Given the description of an element on the screen output the (x, y) to click on. 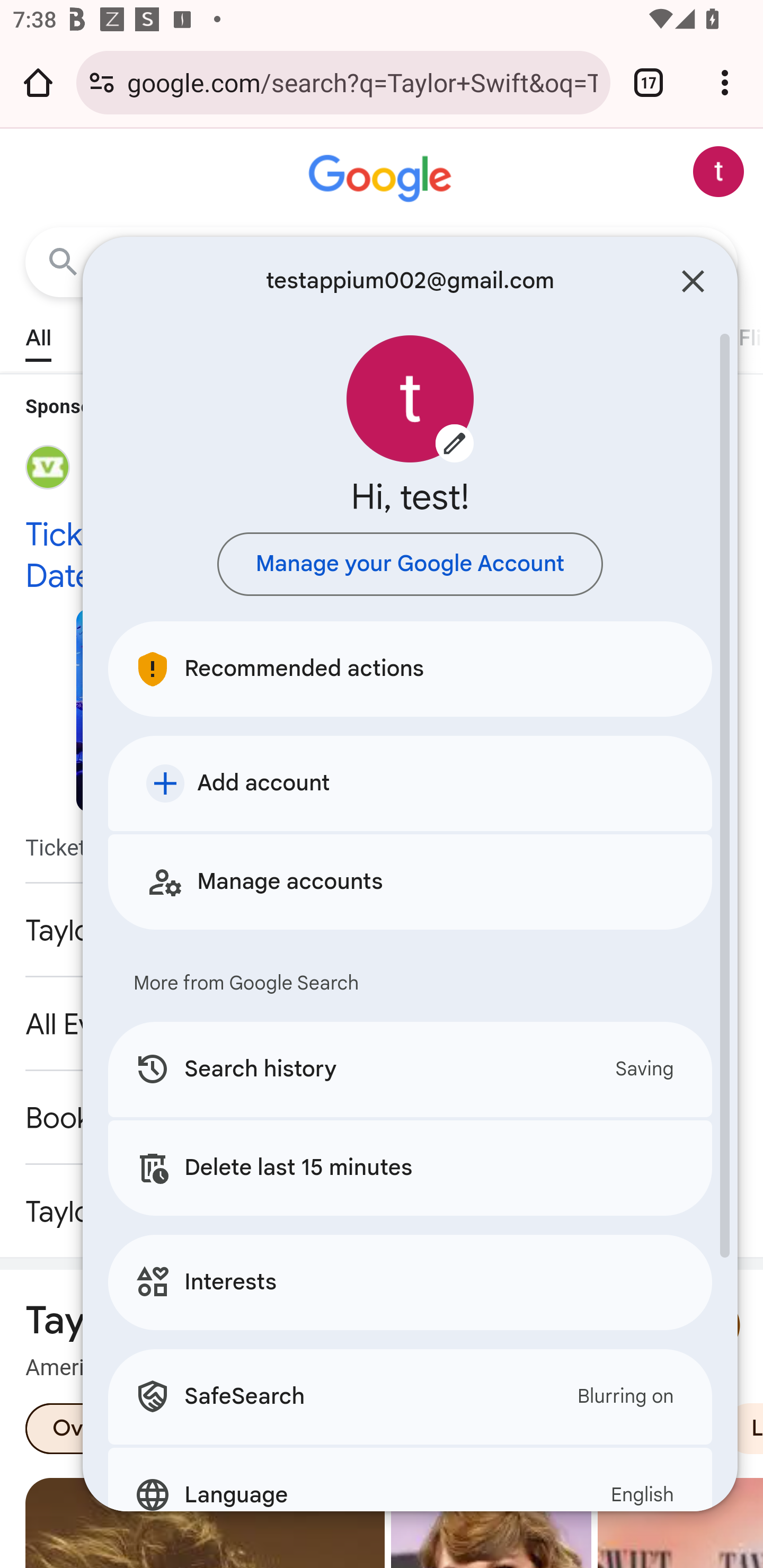
Open the home page (38, 82)
Connection is secure (101, 82)
Switch or close tabs (648, 82)
Customize and control Google Chrome (724, 82)
Google (381, 179)
Close menu (692, 281)
Change profile picture (409, 398)
Manage your Google Account (409, 564)
Recommended actions (409, 668)
Add account (409, 783)
Manage accounts (409, 881)
Delete last 15 minutes (409, 1168)
interests Interests interests Interests (409, 1282)
